Given the description of an element on the screen output the (x, y) to click on. 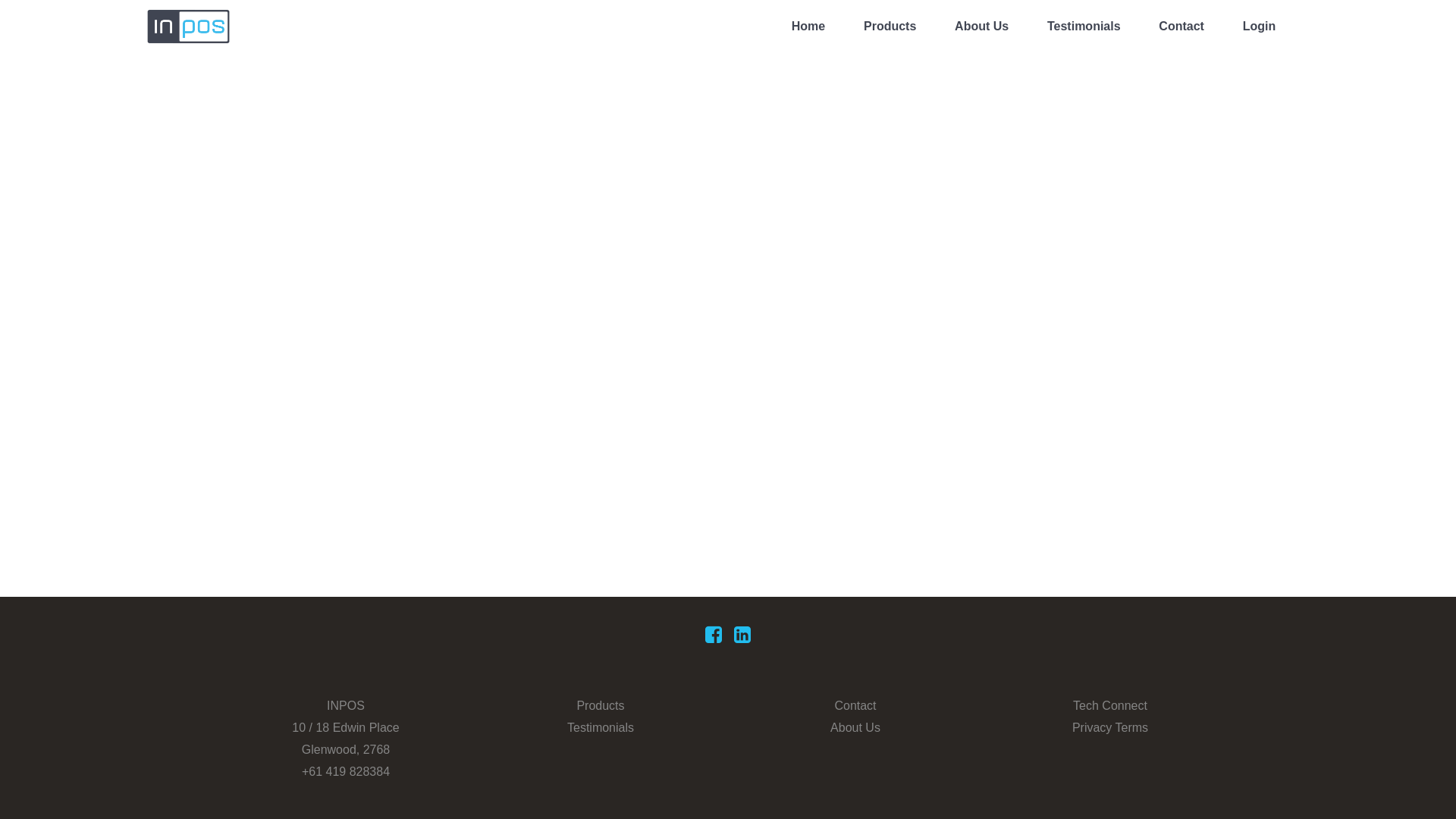
Home Element type: text (808, 26)
Testimonials Element type: text (1083, 26)
Products Element type: text (889, 26)
Testimonials Element type: text (600, 727)
Privacy Terms Element type: text (1110, 727)
About Us Element type: text (855, 727)
Contact Element type: text (1181, 26)
About Us Element type: text (981, 26)
Products Element type: text (600, 705)
Tech Connect Element type: text (1110, 705)
Login Element type: text (1259, 26)
Contact Element type: text (855, 705)
